Given the description of an element on the screen output the (x, y) to click on. 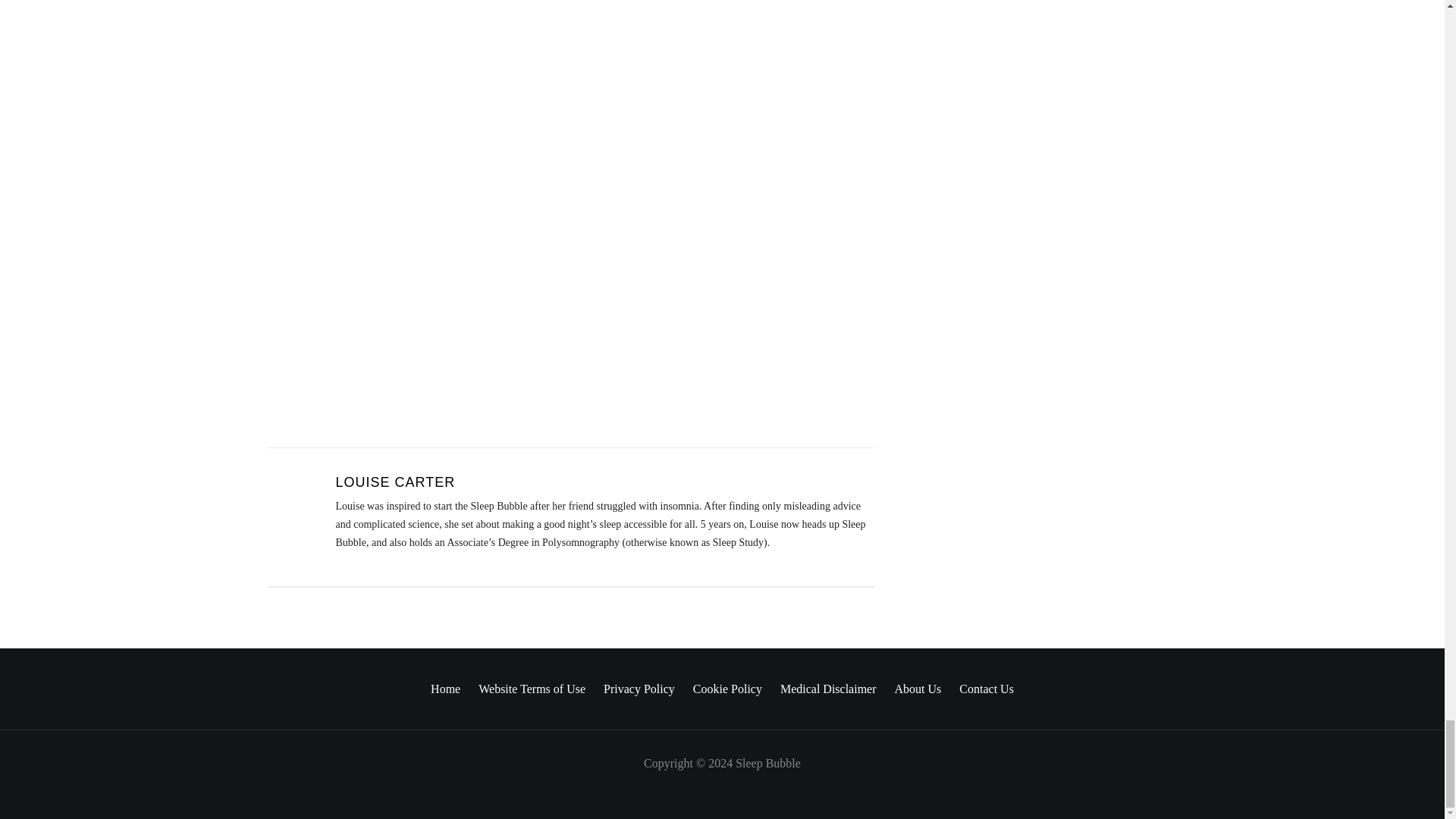
Posts by Louise Carter (394, 482)
